Given the description of an element on the screen output the (x, y) to click on. 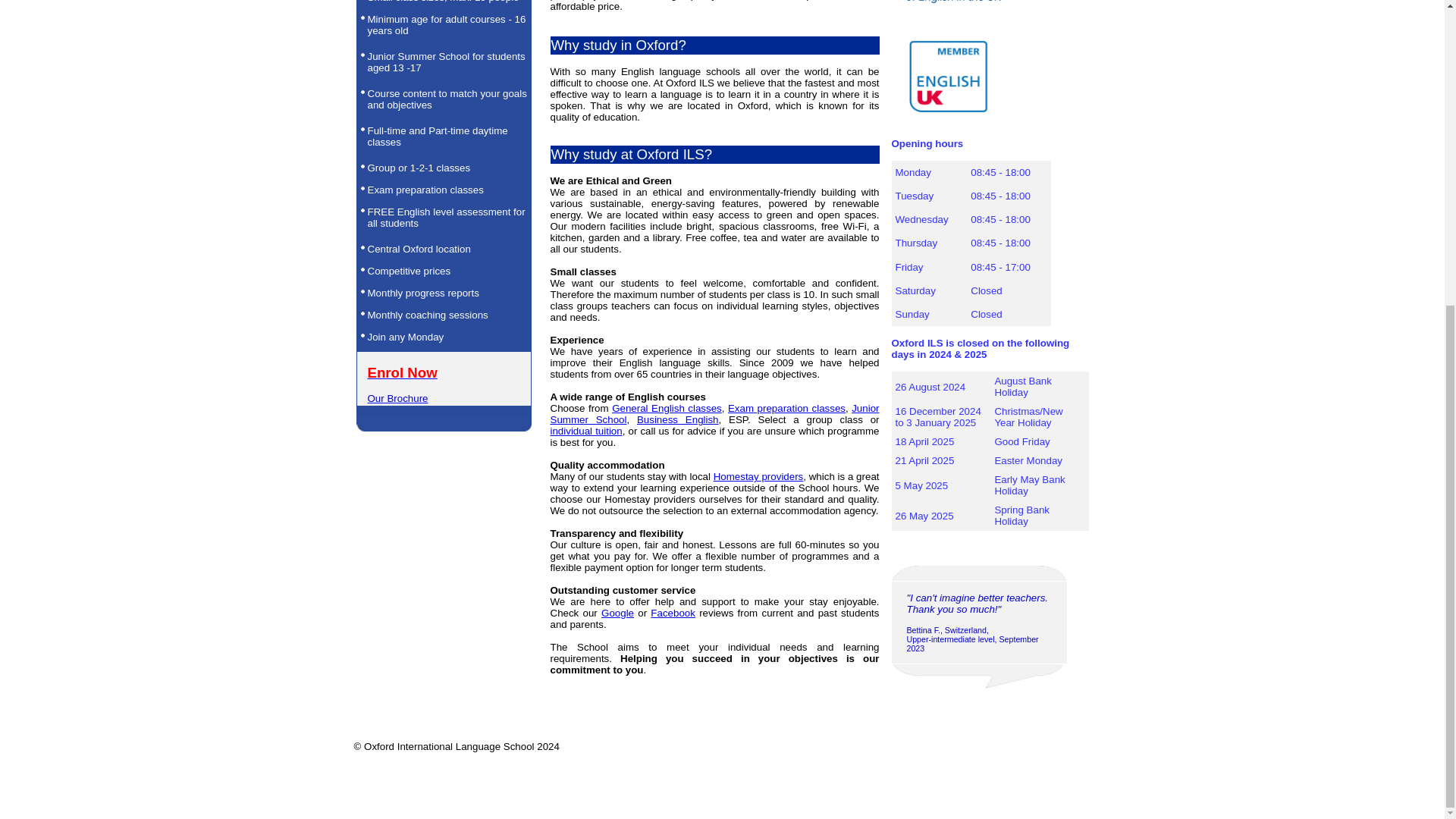
Junior Summer School (714, 413)
Exam preparation classes (786, 408)
Enrol Now (401, 374)
Google (617, 613)
individual tuition (586, 430)
Business English (678, 419)
Homestay providers (758, 476)
Our Brochure (397, 398)
Facebook (672, 613)
General English classes (666, 408)
